Given the description of an element on the screen output the (x, y) to click on. 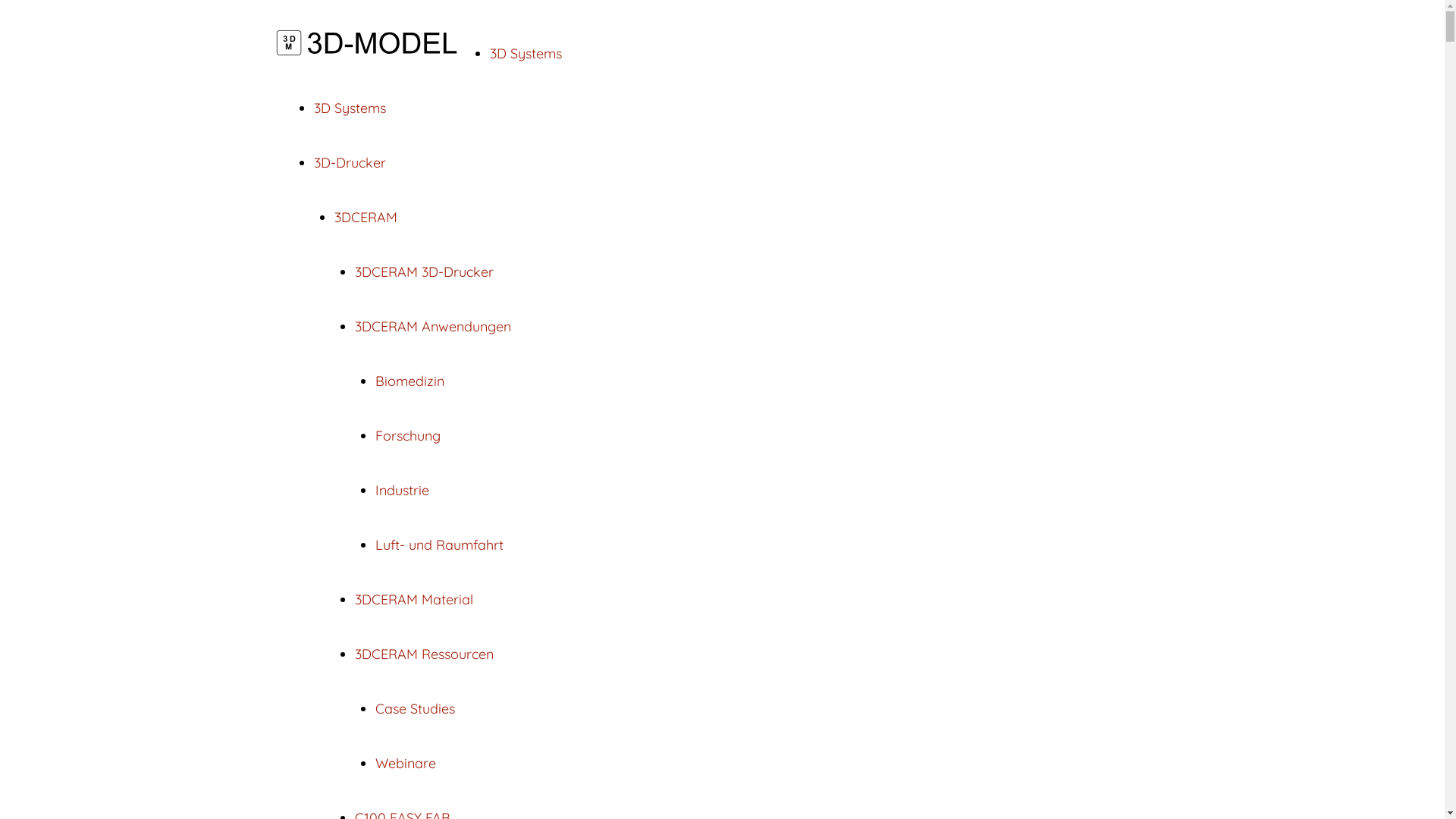
Webinare Element type: text (404, 762)
3DCERAM 3D-Drucker Element type: text (423, 271)
Industrie Element type: text (401, 489)
Case Studies Element type: text (414, 708)
3D Systems Element type: text (349, 107)
3D Systems Element type: text (525, 53)
Biomedizin Element type: text (408, 380)
Luft- und Raumfahrt Element type: text (438, 544)
3D-Drucker Element type: text (349, 162)
3DCERAM Material Element type: text (413, 599)
3DCERAM Anwendungen Element type: text (432, 326)
Forschung Element type: text (406, 435)
3DCERAM Ressourcen Element type: text (423, 653)
3DCERAM Element type: text (364, 216)
